Given the description of an element on the screen output the (x, y) to click on. 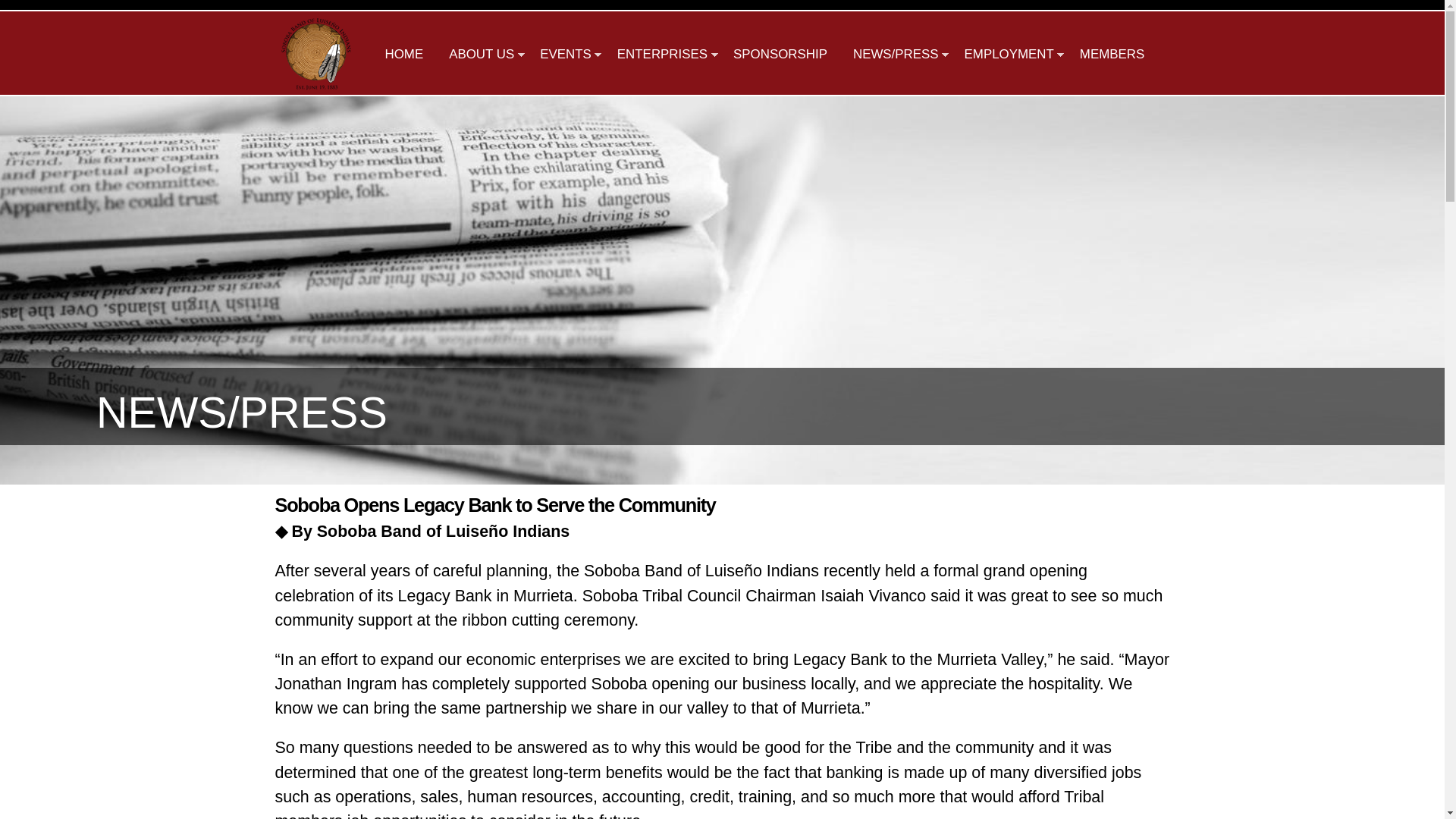
Skip to main content (693, 1)
SPONSORSHIP (780, 52)
Soboba Band of Luiseno Indians (316, 82)
